Given the description of an element on the screen output the (x, y) to click on. 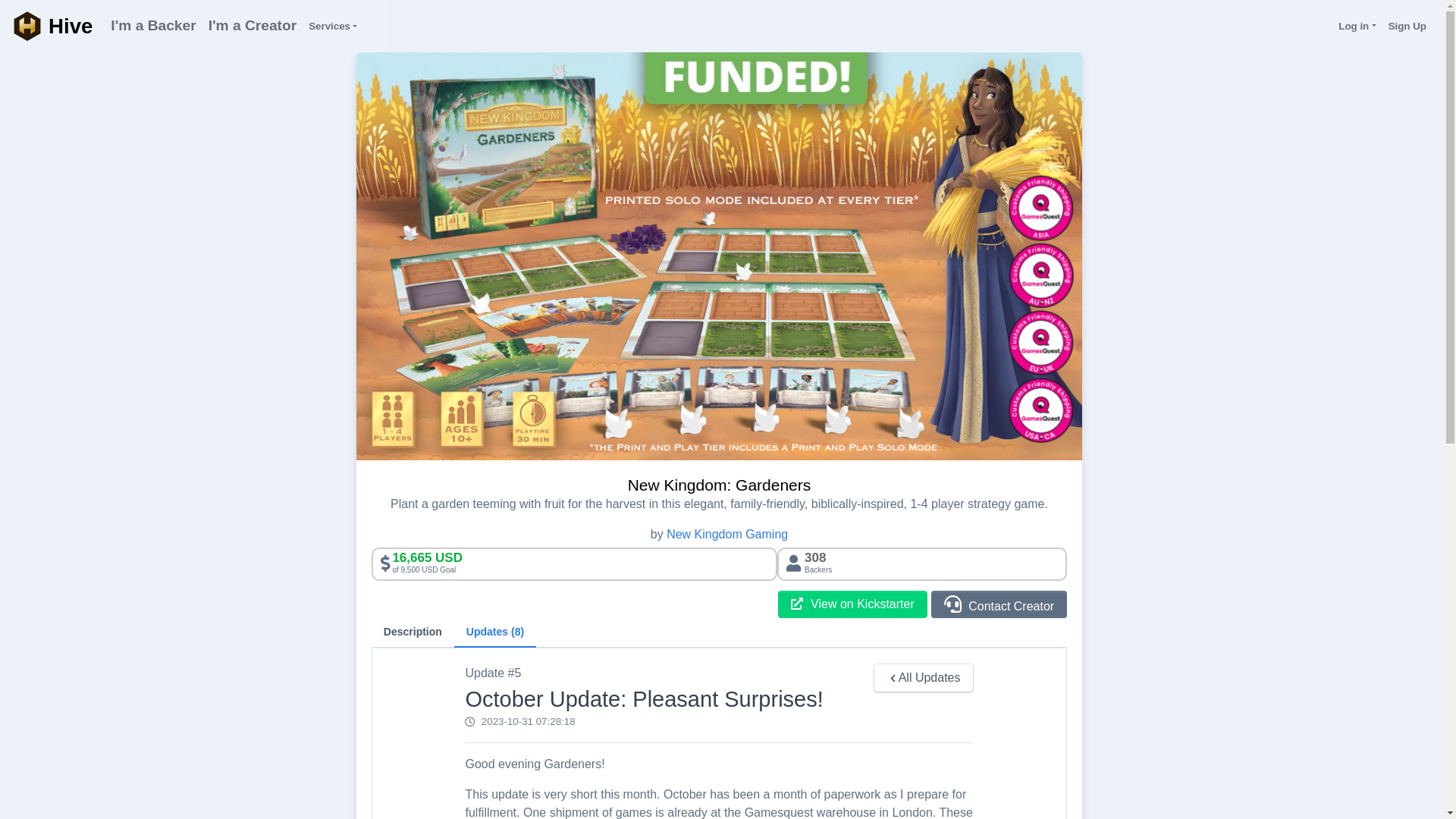
Sign Up (1406, 25)
Log in (1356, 25)
New Kingdom: Gardeners (233, 26)
Contact Creator (332, 26)
Description (999, 604)
New Kingdom Gaming (412, 632)
I'm a Backer (726, 533)
View on Kickstarter (153, 26)
Hive (852, 604)
I'm a Creator (52, 25)
